Given the description of an element on the screen output the (x, y) to click on. 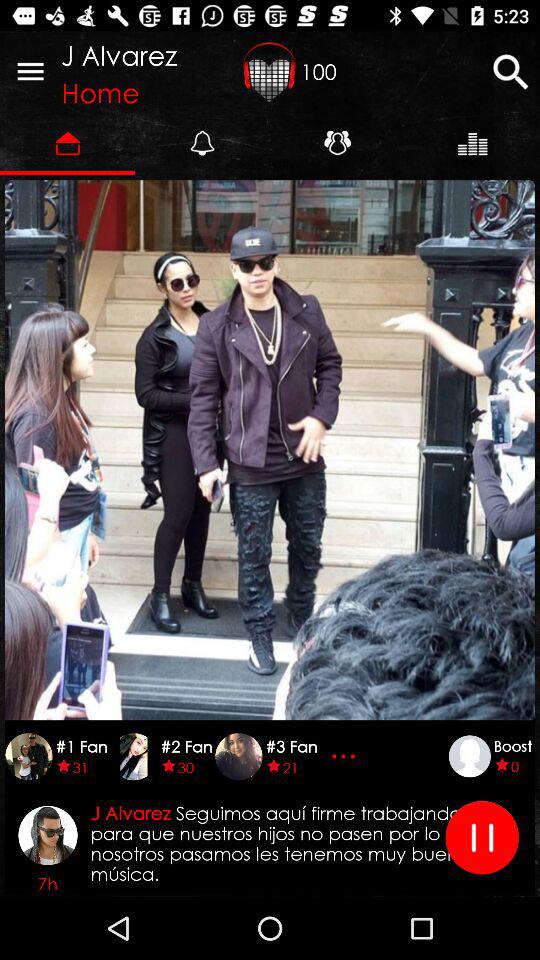
search for music (510, 71)
